Given the description of an element on the screen output the (x, y) to click on. 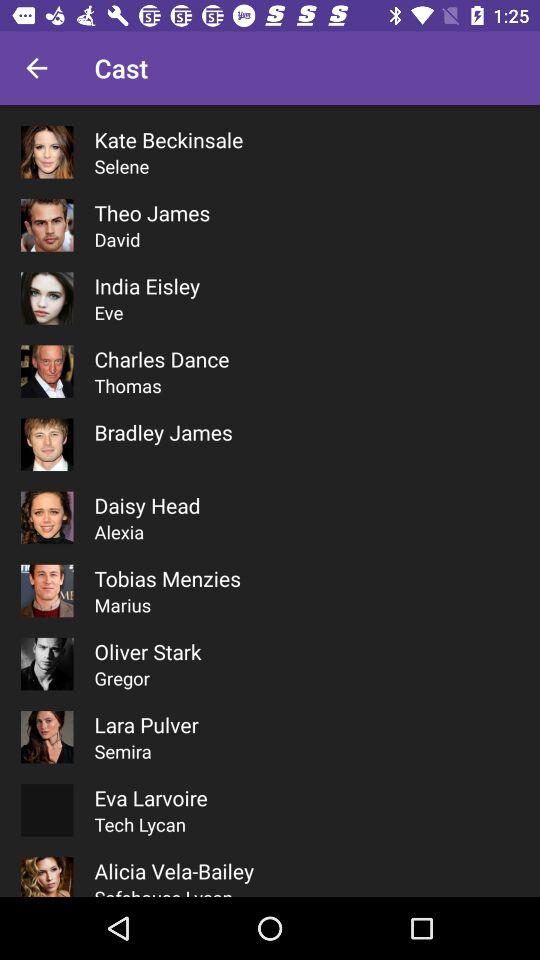
press icon above the oliver stark (122, 604)
